Given the description of an element on the screen output the (x, y) to click on. 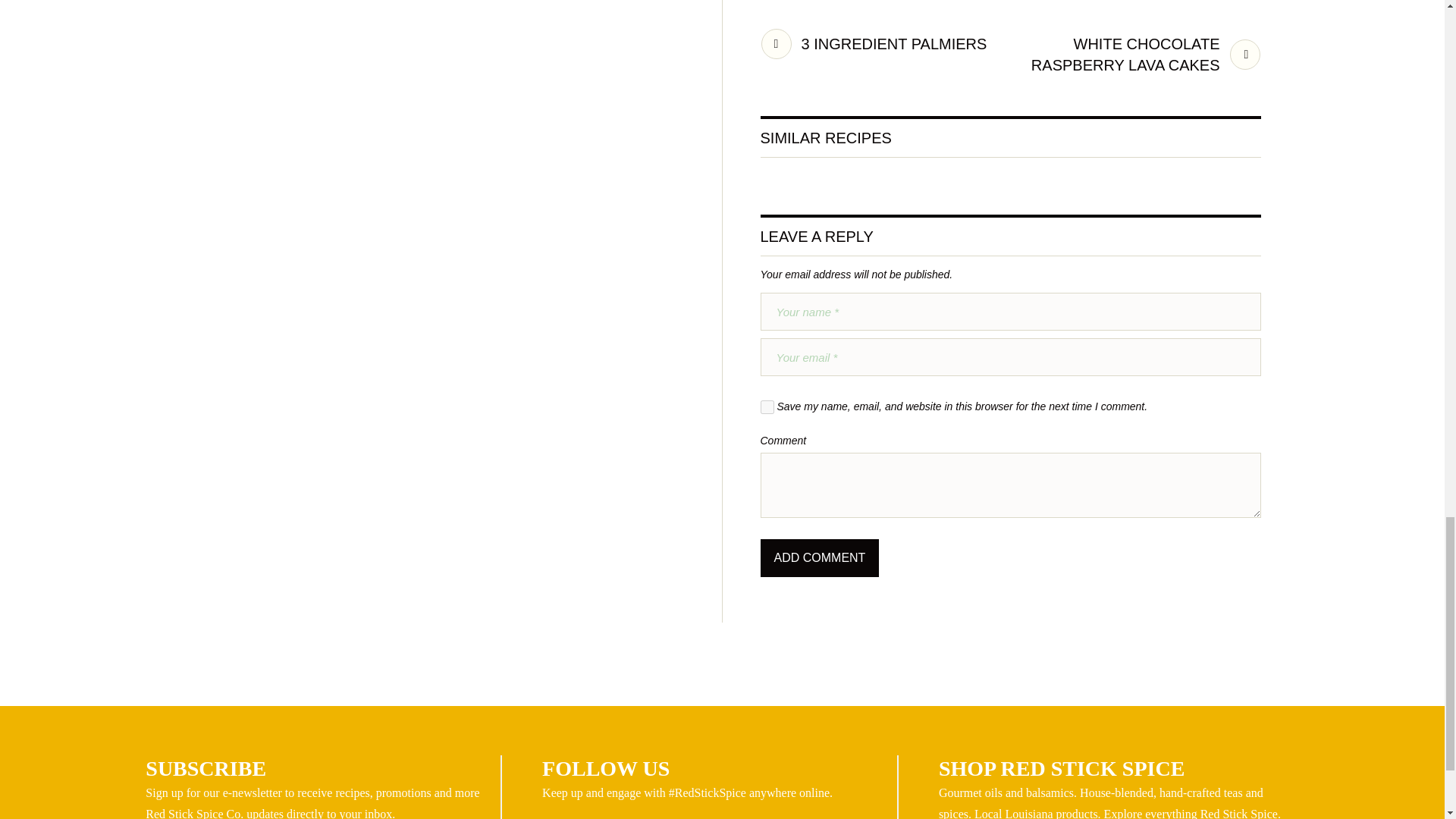
yes (766, 407)
Add Comment (819, 557)
WHITE CHOCOLATE RASPBERRY LAVA CAKES (1142, 54)
Add Comment (819, 557)
3 INGREDIENT PALMIERS (873, 43)
